Given the description of an element on the screen output the (x, y) to click on. 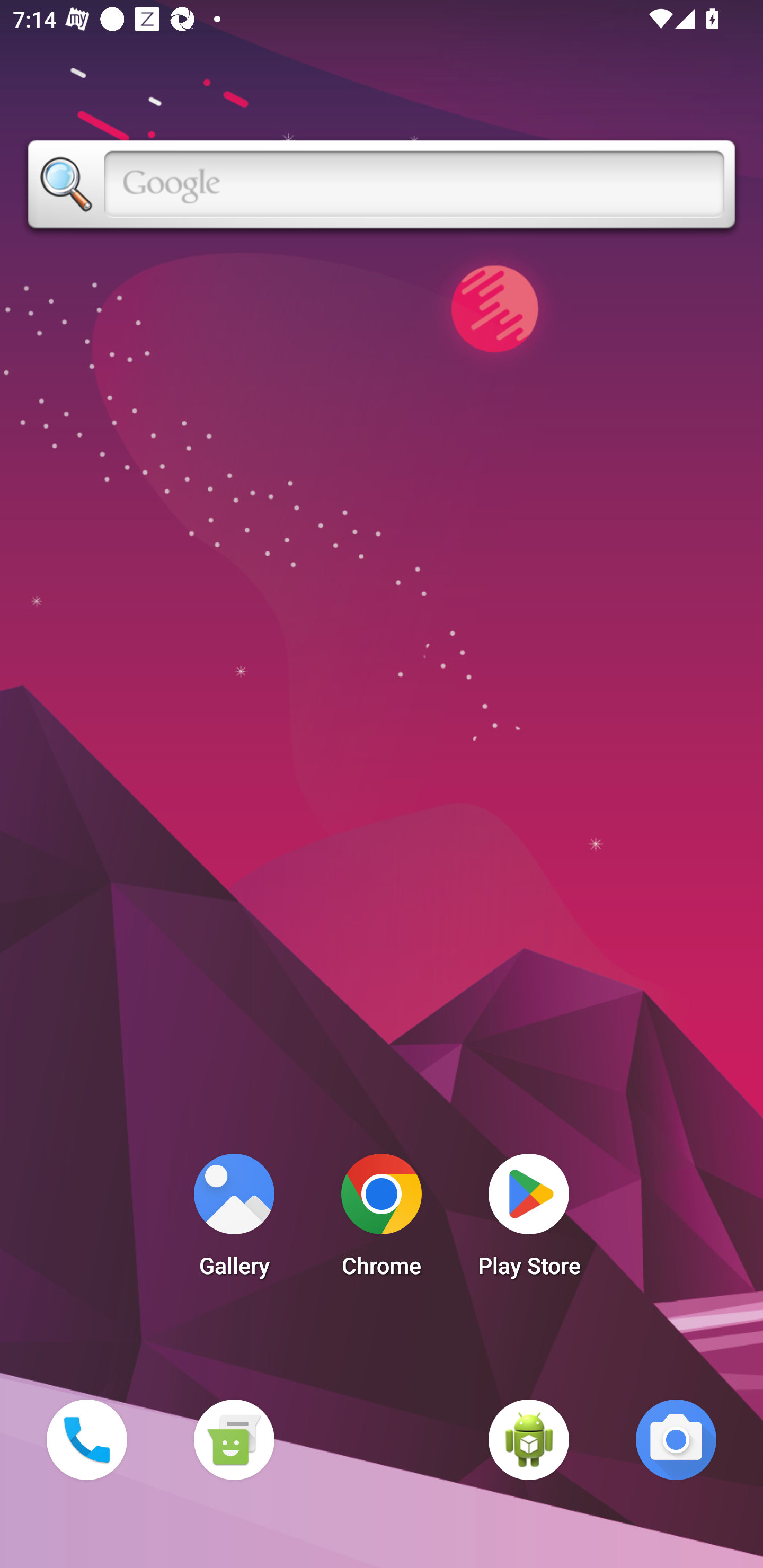
Gallery (233, 1220)
Chrome (381, 1220)
Play Store (528, 1220)
Phone (86, 1439)
Messaging (233, 1439)
WebView Browser Tester (528, 1439)
Camera (676, 1439)
